Given the description of an element on the screen output the (x, y) to click on. 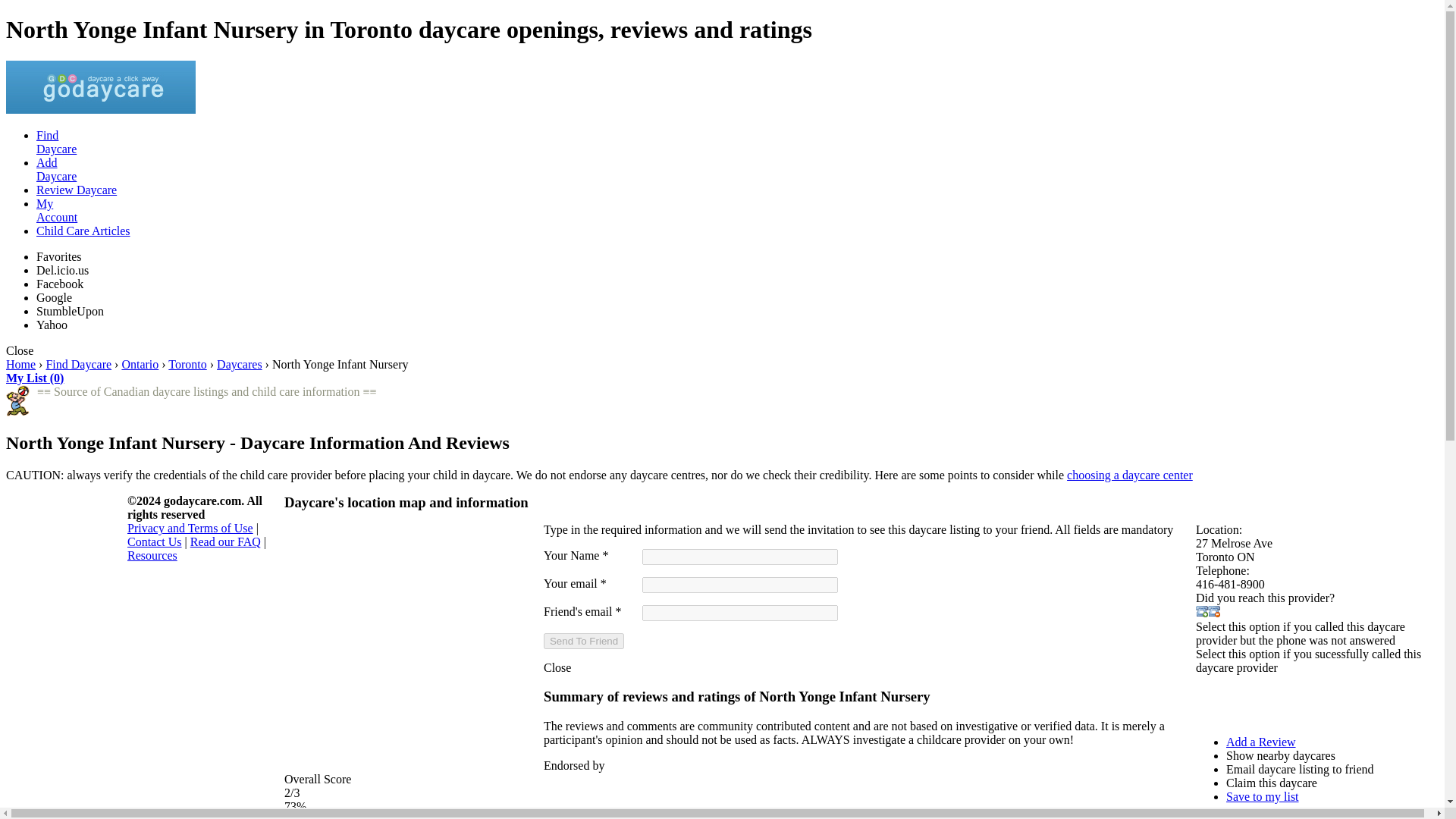
Find Daycare (78, 364)
Ontario (139, 364)
Close (556, 667)
Create child care provider account (737, 210)
Start over (19, 364)
Add your daycare (56, 141)
Advertisement (737, 169)
Child Care Articles (1284, 697)
Facebook (83, 230)
